Given the description of an element on the screen output the (x, y) to click on. 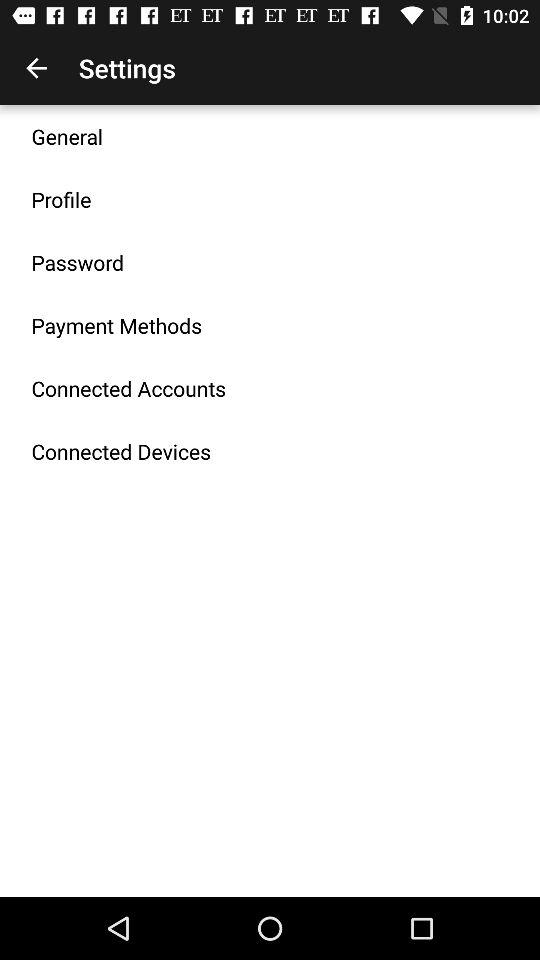
tap item above general (36, 68)
